Given the description of an element on the screen output the (x, y) to click on. 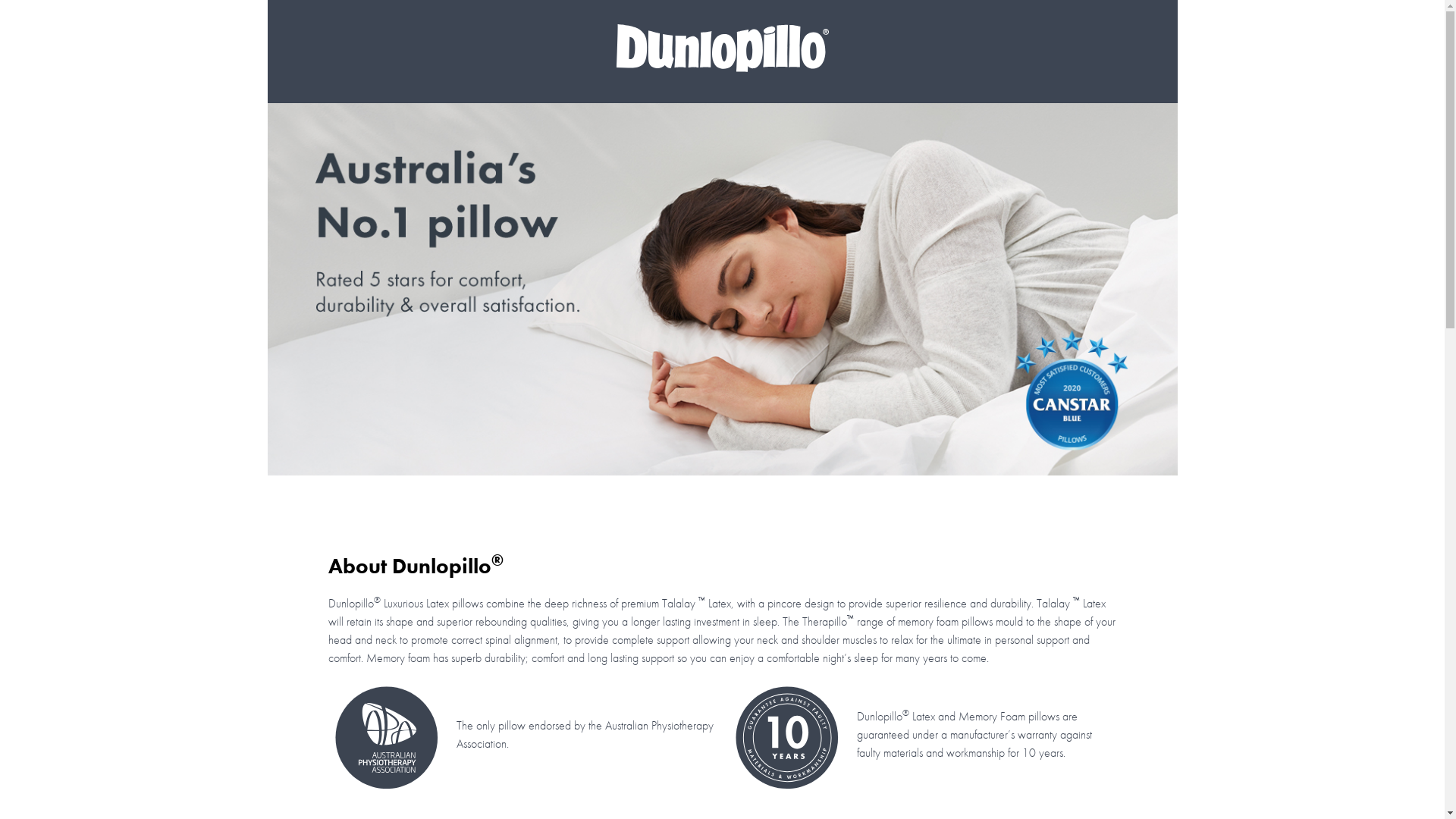
Australian Physiotherapy Association Element type: hover (385, 737)
Dunlopillo Element type: hover (721, 48)
